Given the description of an element on the screen output the (x, y) to click on. 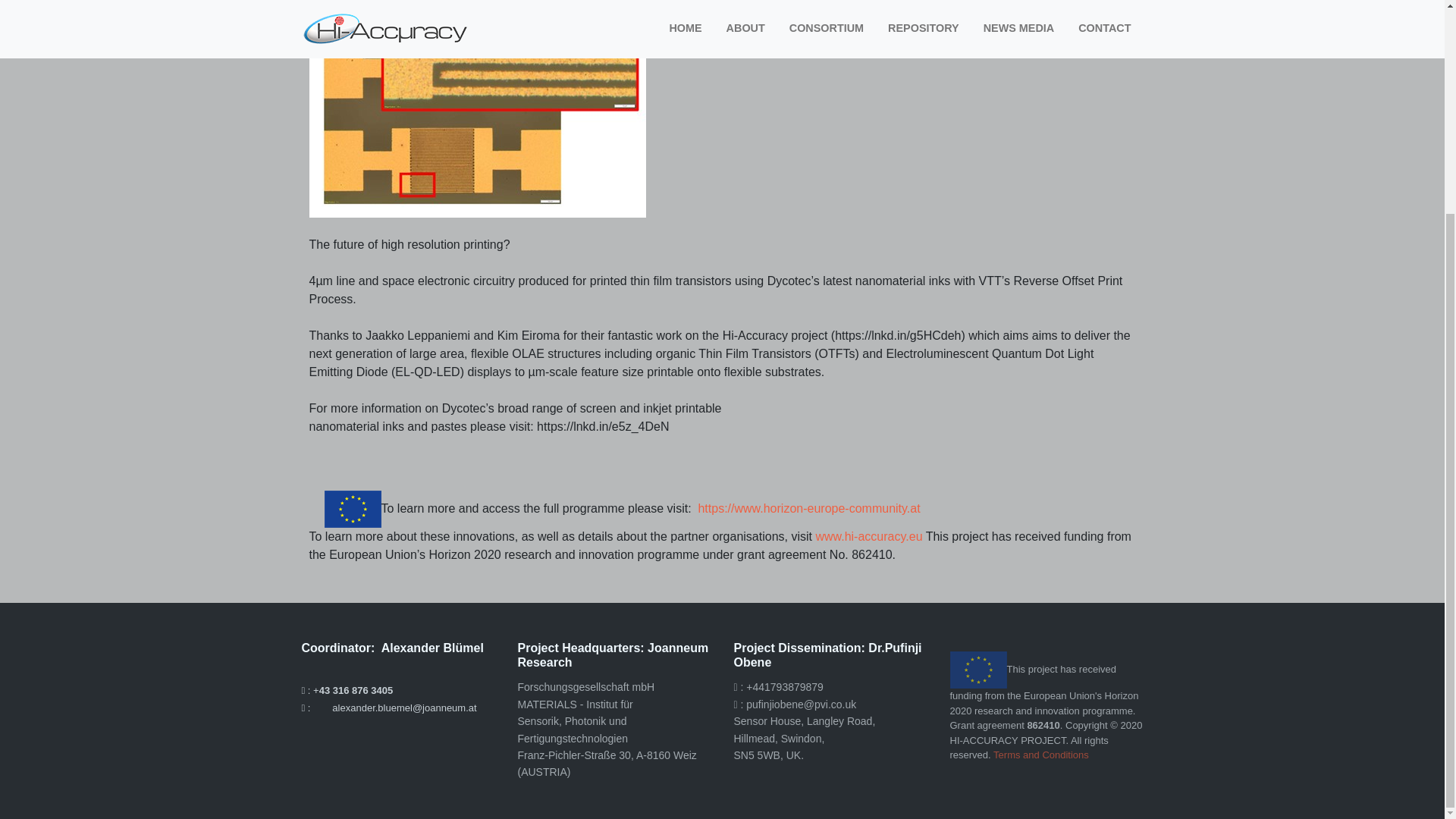
www.hi-accuracy.eu (868, 535)
Terms and Conditions (1040, 754)
